Given the description of an element on the screen output the (x, y) to click on. 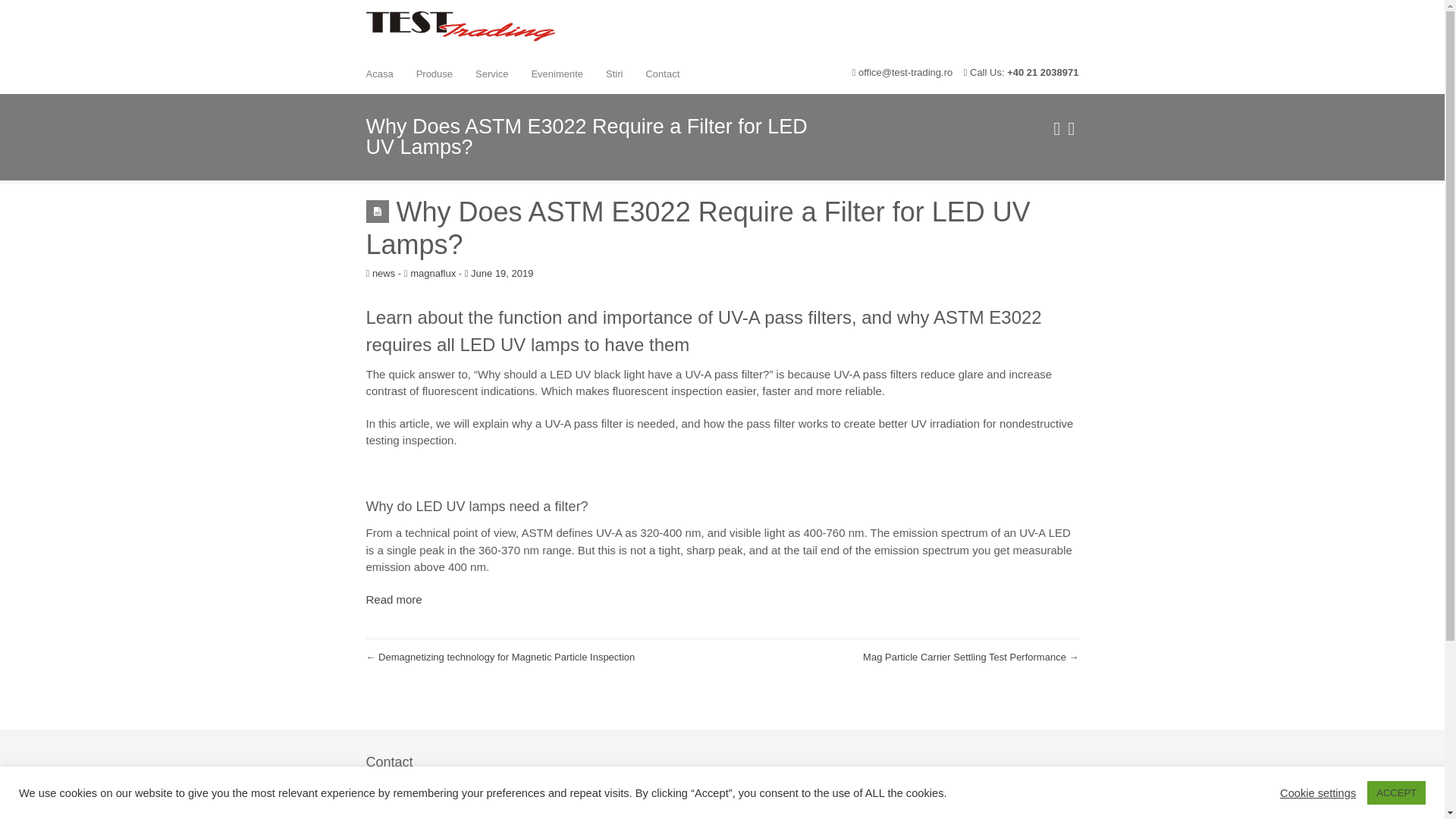
Produse (434, 73)
9:23 pm (499, 273)
Evenimente (556, 73)
Cookie settings (1317, 792)
news (383, 273)
Stiri (613, 73)
ACCEPT (1396, 792)
Map (997, 778)
Read more (393, 599)
magnaflux (432, 273)
Service (491, 73)
June 19, 2019 (499, 273)
Contact (661, 73)
Acasa (379, 73)
